Given the description of an element on the screen output the (x, y) to click on. 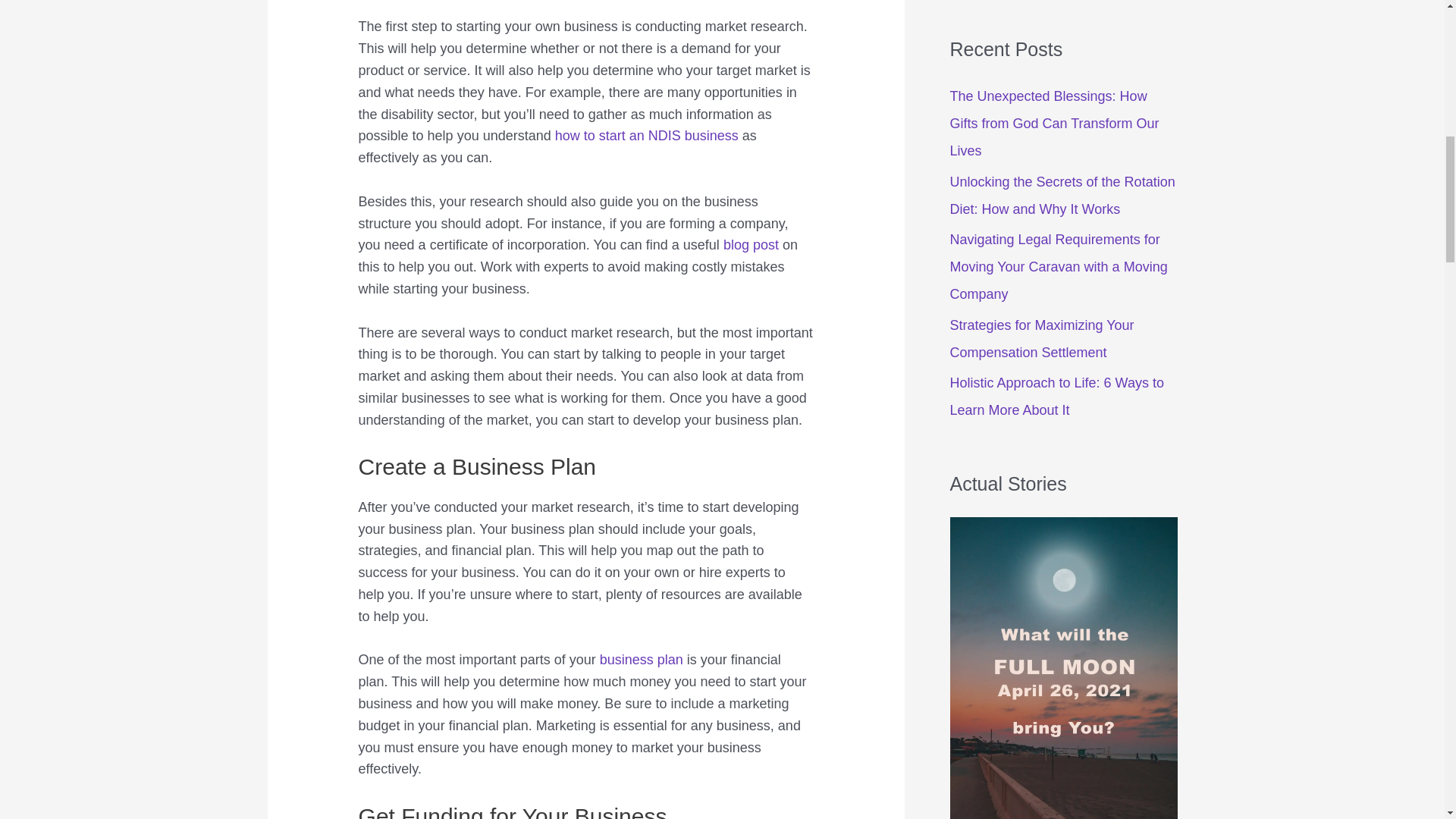
how to start an NDIS business (646, 135)
business plan (640, 659)
blog post (750, 244)
